Given the description of an element on the screen output the (x, y) to click on. 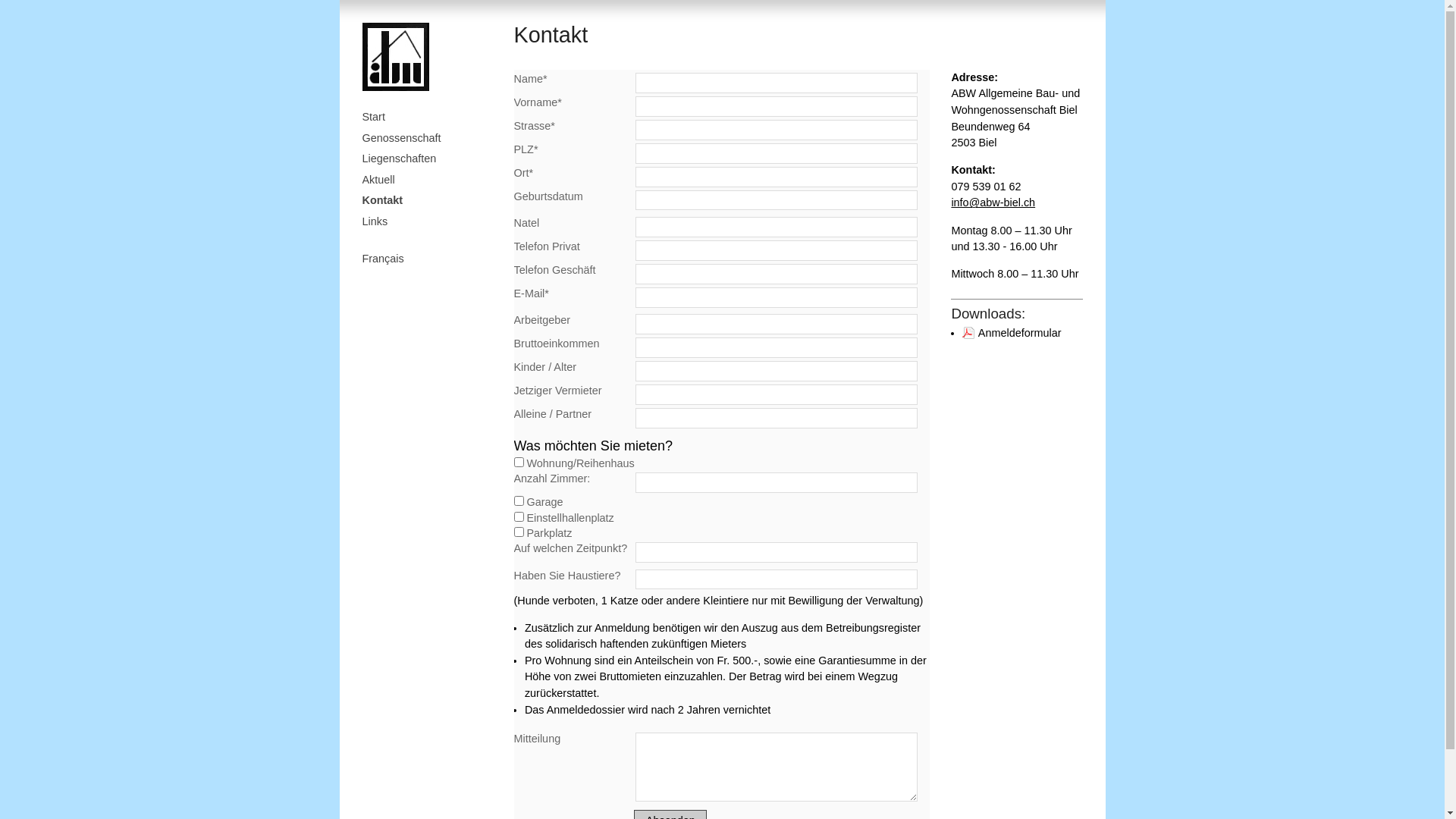
ABW Allgemeine Bau- und Wohngenossenschaft Biel Element type: hover (395, 56)
Genossenschaft Element type: text (430, 138)
Anmeldeformular Element type: text (1011, 332)
Kontakt Element type: text (430, 200)
info@abw-biel.ch Element type: text (992, 202)
Aktuell Element type: text (430, 180)
Links Element type: text (430, 221)
Start Element type: text (430, 117)
Liegenschaften Element type: text (430, 158)
